Given the description of an element on the screen output the (x, y) to click on. 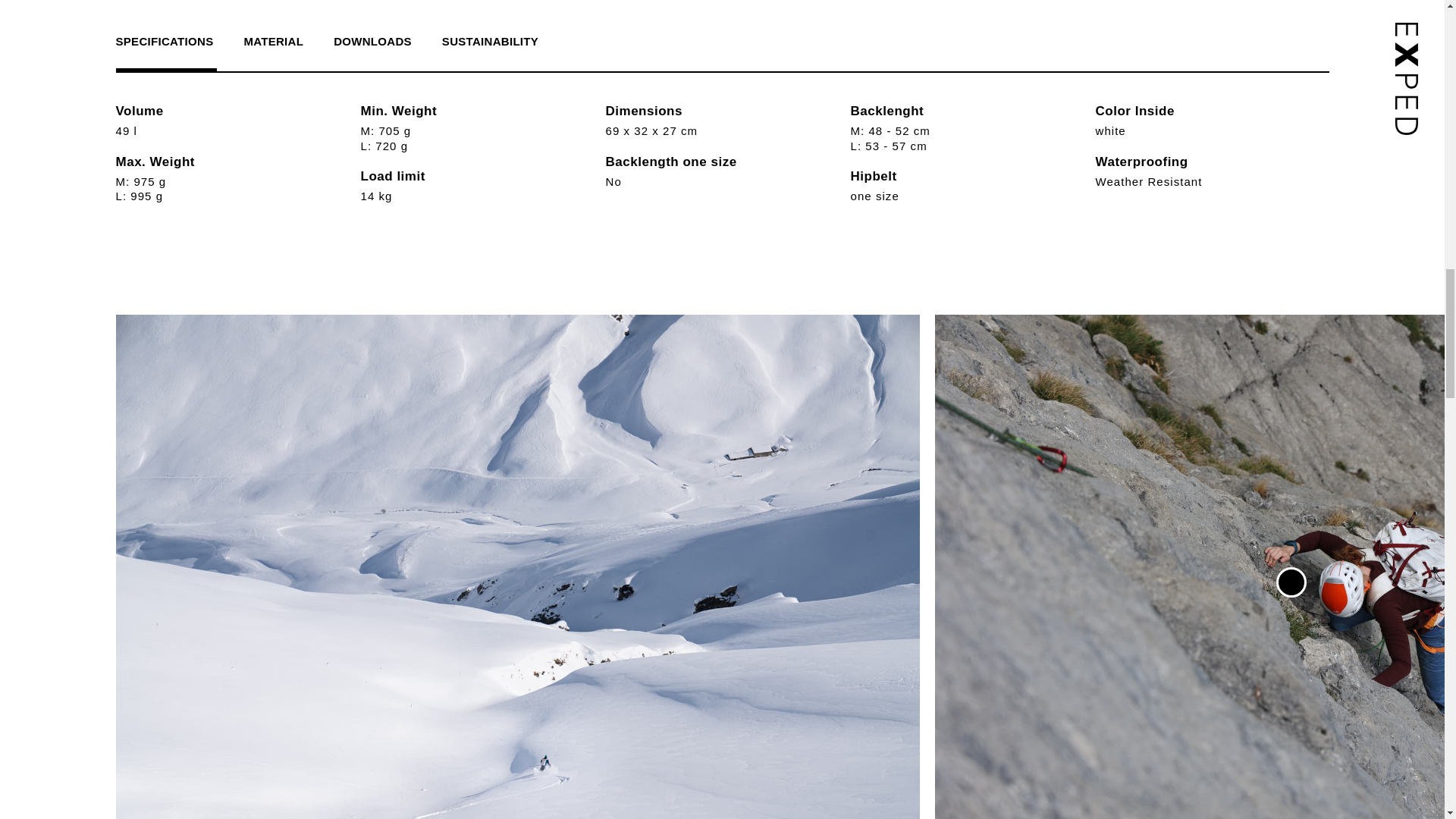
SUSTAINABILITY (489, 41)
DOWNLOADS (372, 41)
MATERIAL (273, 41)
SPECIFICATIONS (171, 41)
